Given the description of an element on the screen output the (x, y) to click on. 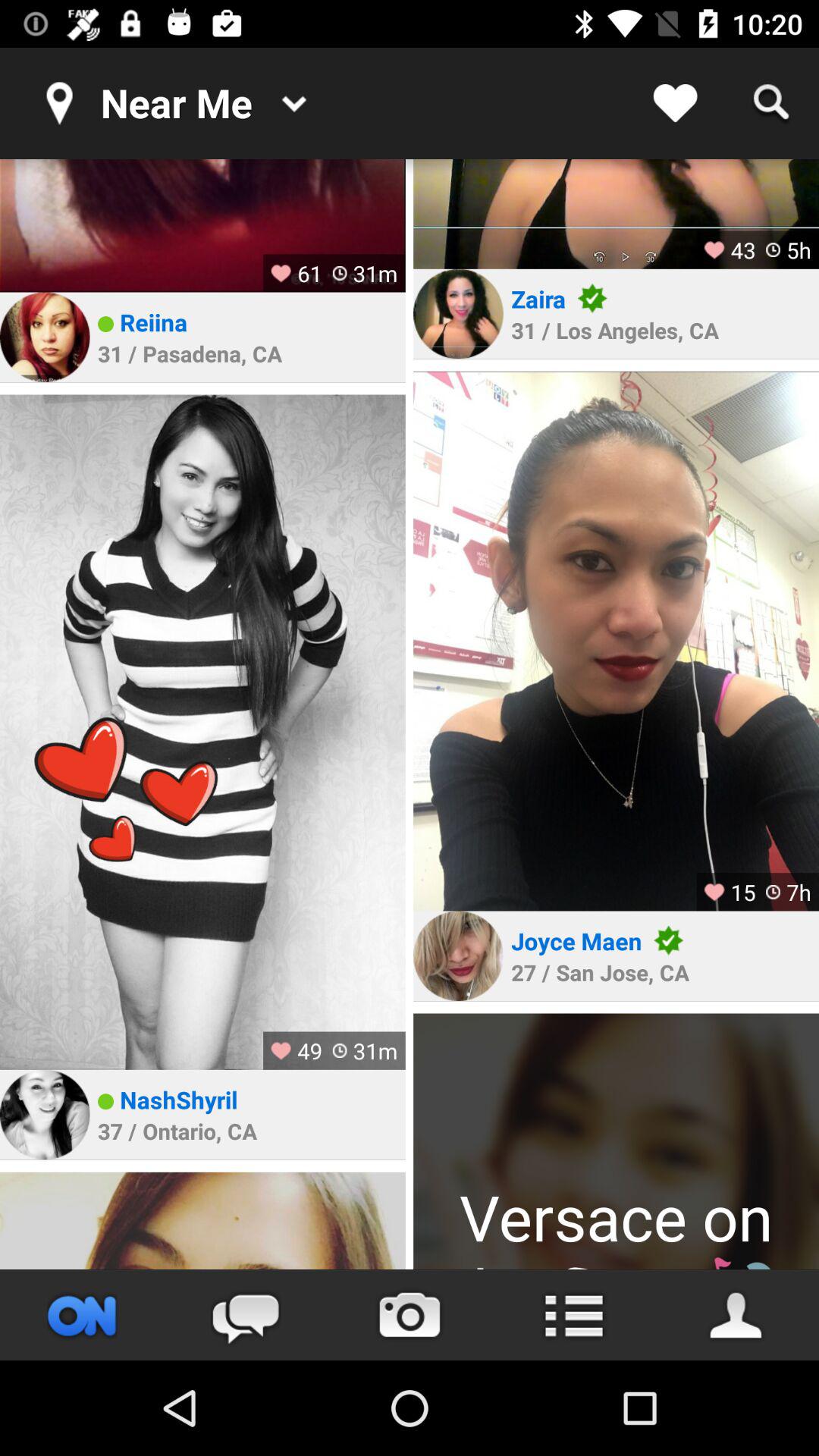
click for profile (44, 1114)
